Given the description of an element on the screen output the (x, y) to click on. 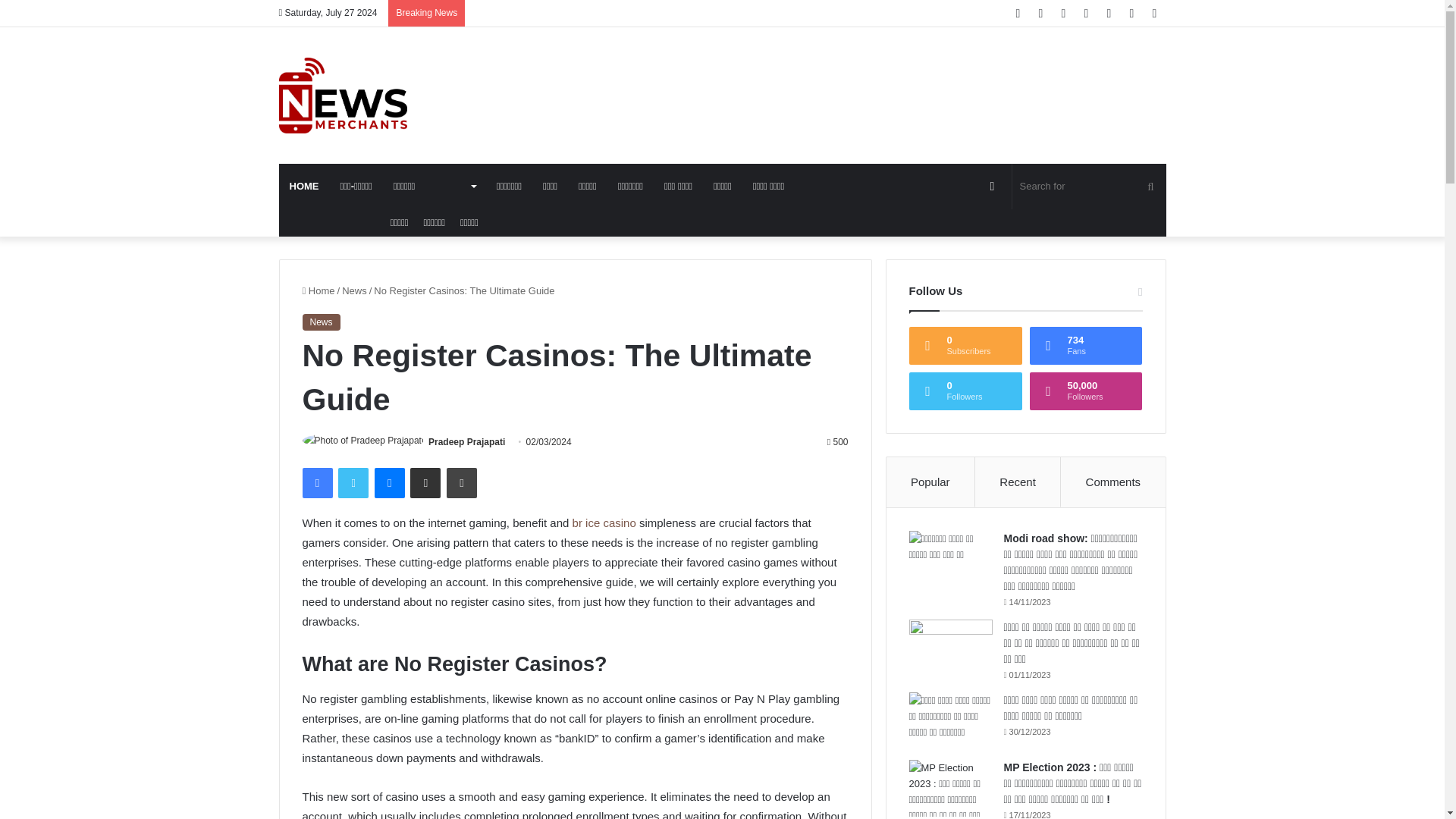
Print (461, 482)
Home (317, 290)
Twitter (352, 482)
HOME (304, 186)
Share via Email (425, 482)
Messenger (389, 482)
News (354, 290)
News (320, 321)
Search for (1088, 186)
Pradeep Prajapati (466, 441)
Pradeep Prajapati (466, 441)
news merchants (343, 95)
Facebook (316, 482)
